Given the description of an element on the screen output the (x, y) to click on. 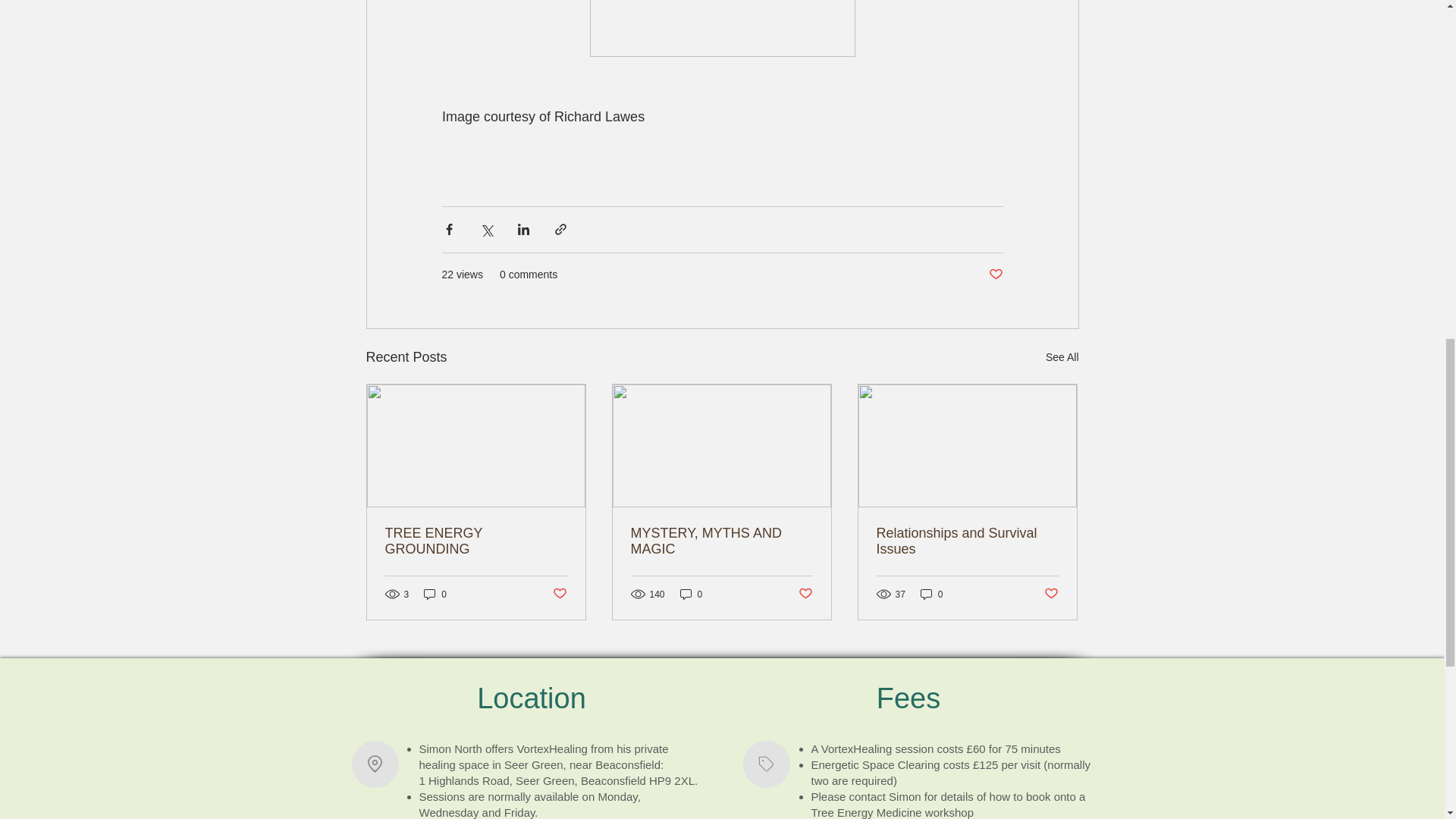
Post not marked as liked (1050, 593)
0 (691, 594)
Post not marked as liked (558, 593)
Post not marked as liked (804, 593)
Relationships and Survival Issues (967, 541)
0 (435, 594)
TREE ENERGY GROUNDING (476, 541)
0 (931, 594)
MYSTERY, MYTHS AND MAGIC (721, 541)
Post not marked as liked (995, 274)
